Given the description of an element on the screen output the (x, y) to click on. 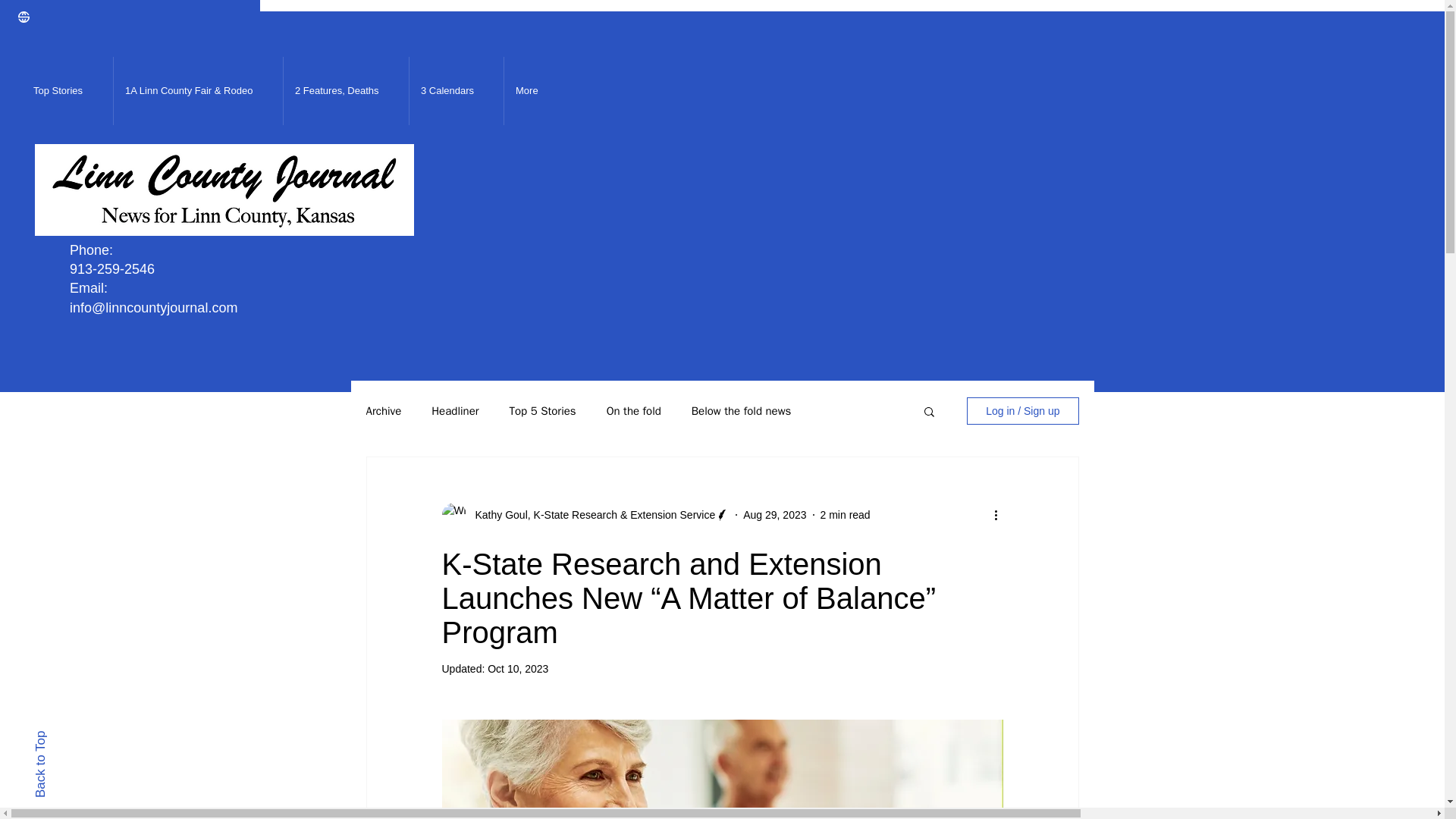
Archive (383, 410)
Headliner (454, 410)
Top Stories (67, 90)
3 Calendars (456, 90)
Top 5 Stories (542, 410)
Aug 29, 2023 (774, 513)
Oct 10, 2023 (517, 668)
Below the fold news (741, 410)
2 Features, Deaths (345, 90)
On the fold (634, 410)
2 min read (845, 513)
